Given the description of an element on the screen output the (x, y) to click on. 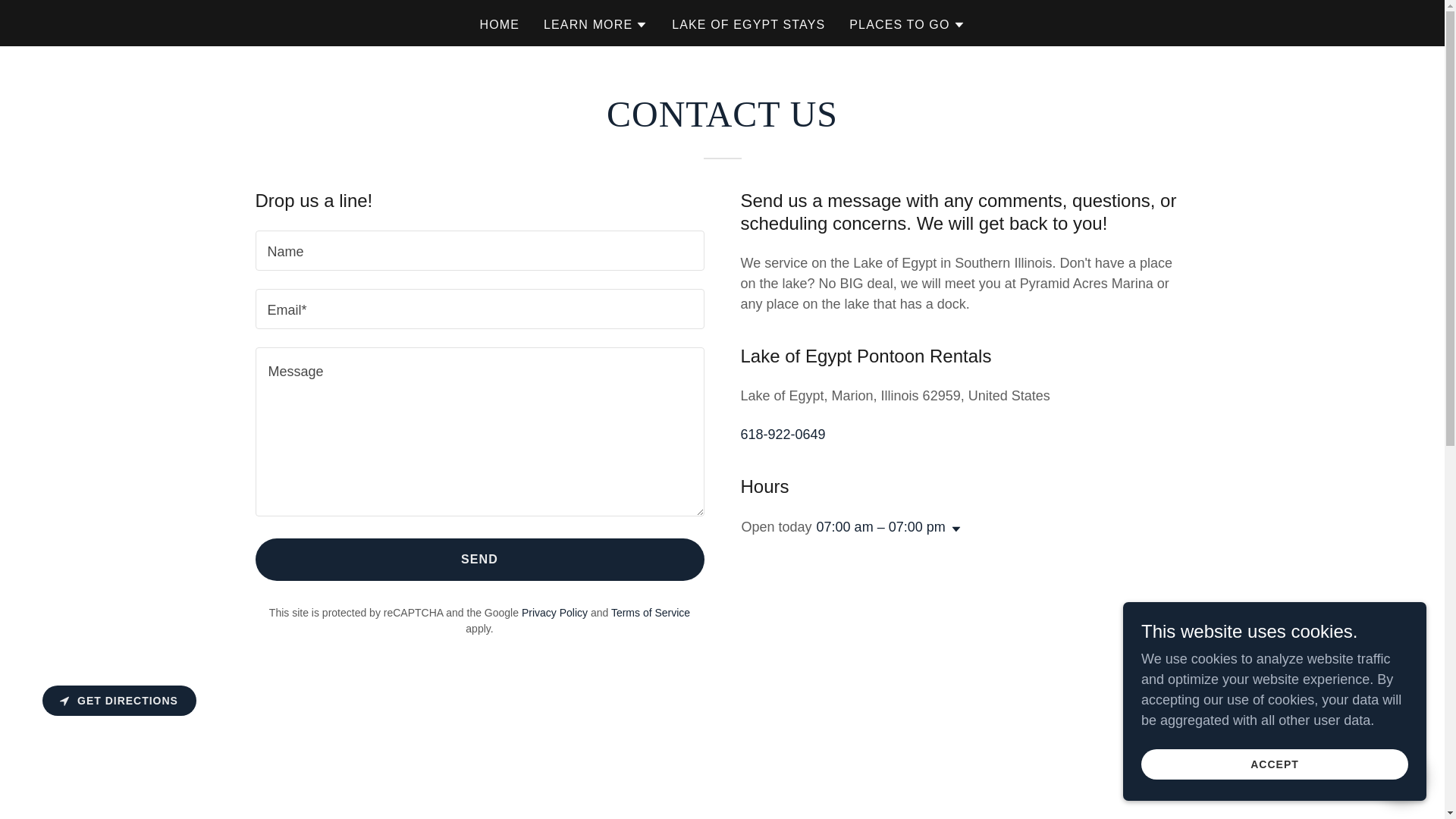
HOME (499, 24)
LAKE OF EGYPT STAYS (747, 24)
SEND (478, 559)
Privacy Policy (554, 612)
618-922-0649 (782, 434)
LEARN MORE (595, 24)
PLACES TO GO (905, 24)
Terms of Service (650, 612)
